Given the description of an element on the screen output the (x, y) to click on. 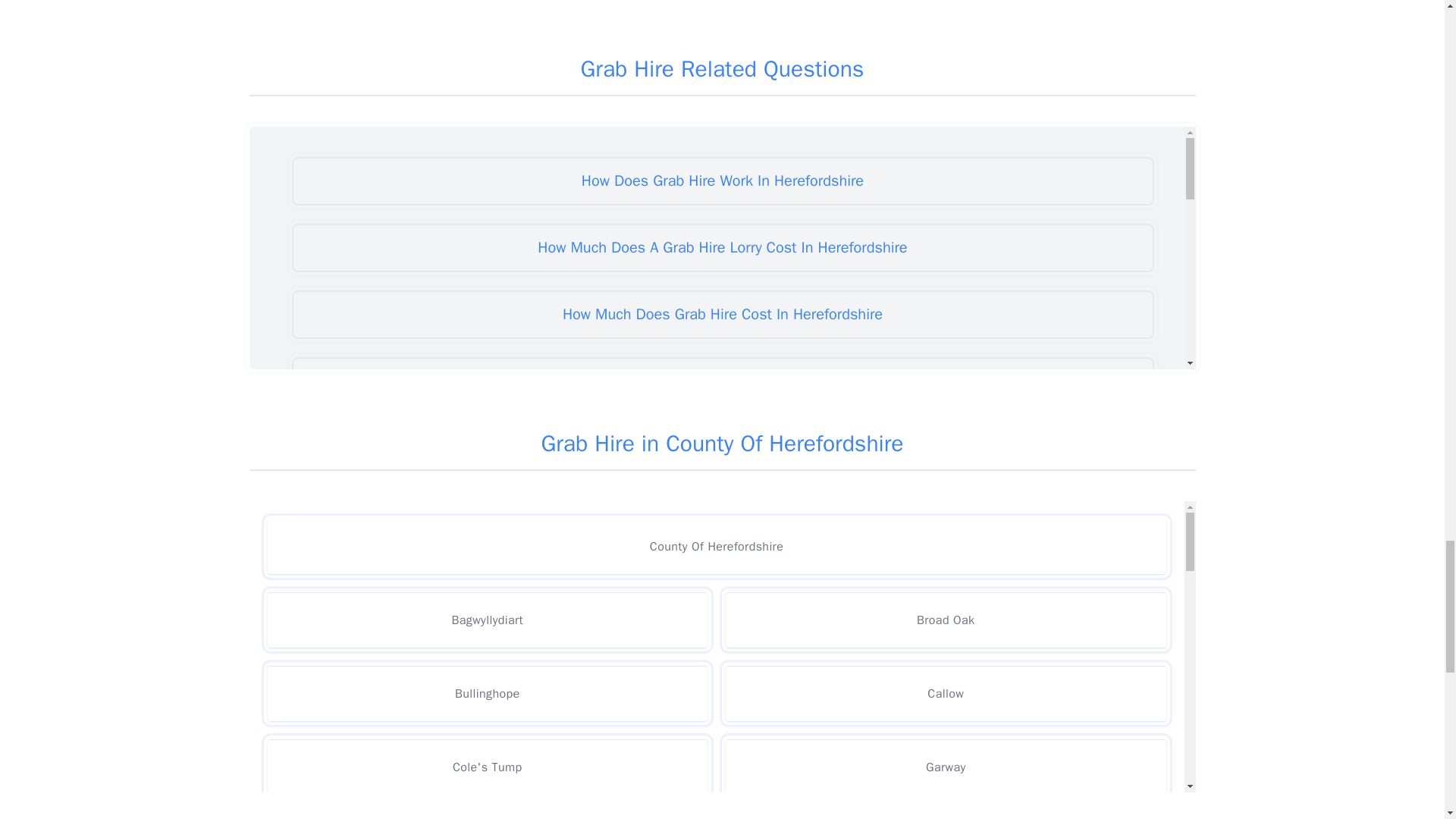
How Much For Grab Hire In Herefordshire (722, 448)
How Much Is A Grab Lorry To Hire In Herefordshire (722, 581)
How Does Grab Hire Work In Herefordshire (722, 181)
How Much Is Grab Hire In Herefordshire (722, 648)
How Much Does Grab Hire Cost In Herefordshire (722, 314)
How Much Is A Grab Hire In Herefordshire (722, 514)
How Much To Hire A Grab Lorry In Herefordshire (722, 781)
How Much Does A Grab Hire Lorry Cost In Herefordshire (722, 247)
How Much Does It Cost To Hire A Grab Lorry In Herefordshire (722, 381)
How Much Is Grab Lorry Hire In Herefordshire (722, 715)
